Given the description of an element on the screen output the (x, y) to click on. 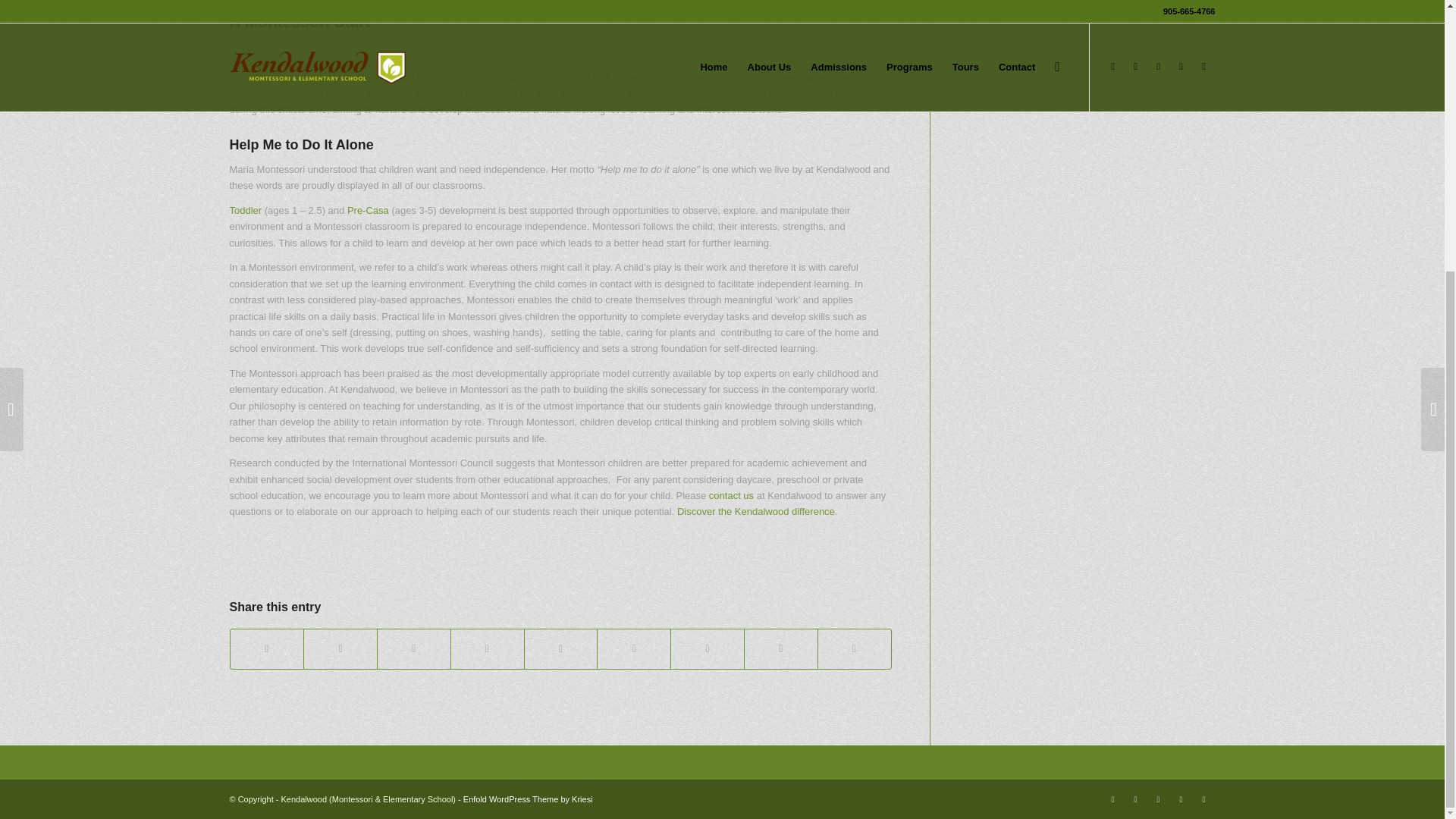
Contact (733, 495)
Permanent Link: A Montessori Start (298, 21)
Toddler (245, 210)
contact us (733, 495)
A Montessori Start (298, 21)
Pre-Casa (367, 210)
Discover the Kendalwood Difference (755, 511)
Programs (245, 210)
Enfold WordPress Theme by Kriesi (527, 798)
Discover the Kendalwood difference (755, 511)
Programs (367, 210)
